Given the description of an element on the screen output the (x, y) to click on. 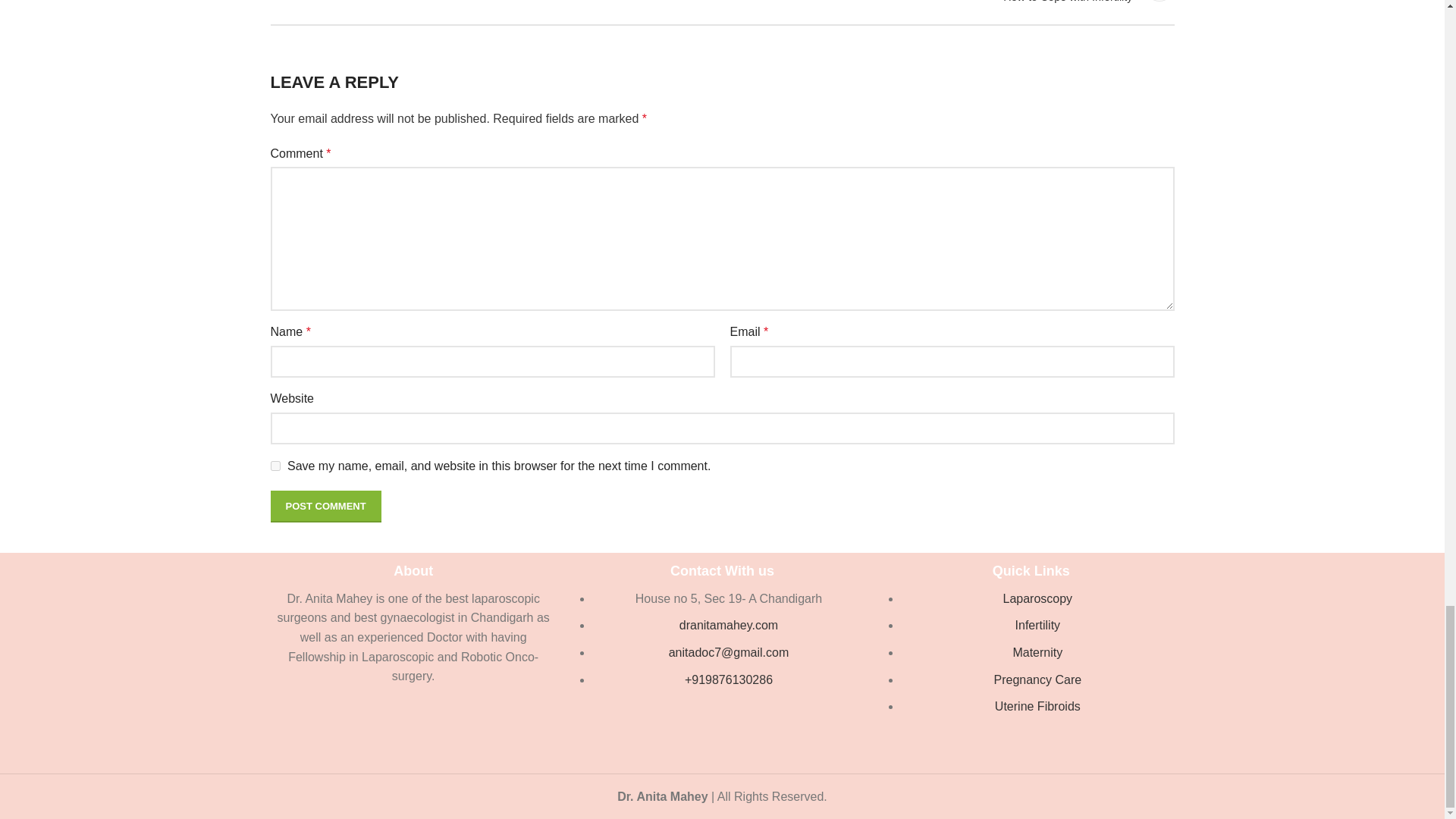
dranitamahey.com (728, 625)
Post Comment (955, 11)
Post Comment (324, 506)
yes (324, 506)
Back to list (274, 465)
Laparoscopy (721, 0)
